Given the description of an element on the screen output the (x, y) to click on. 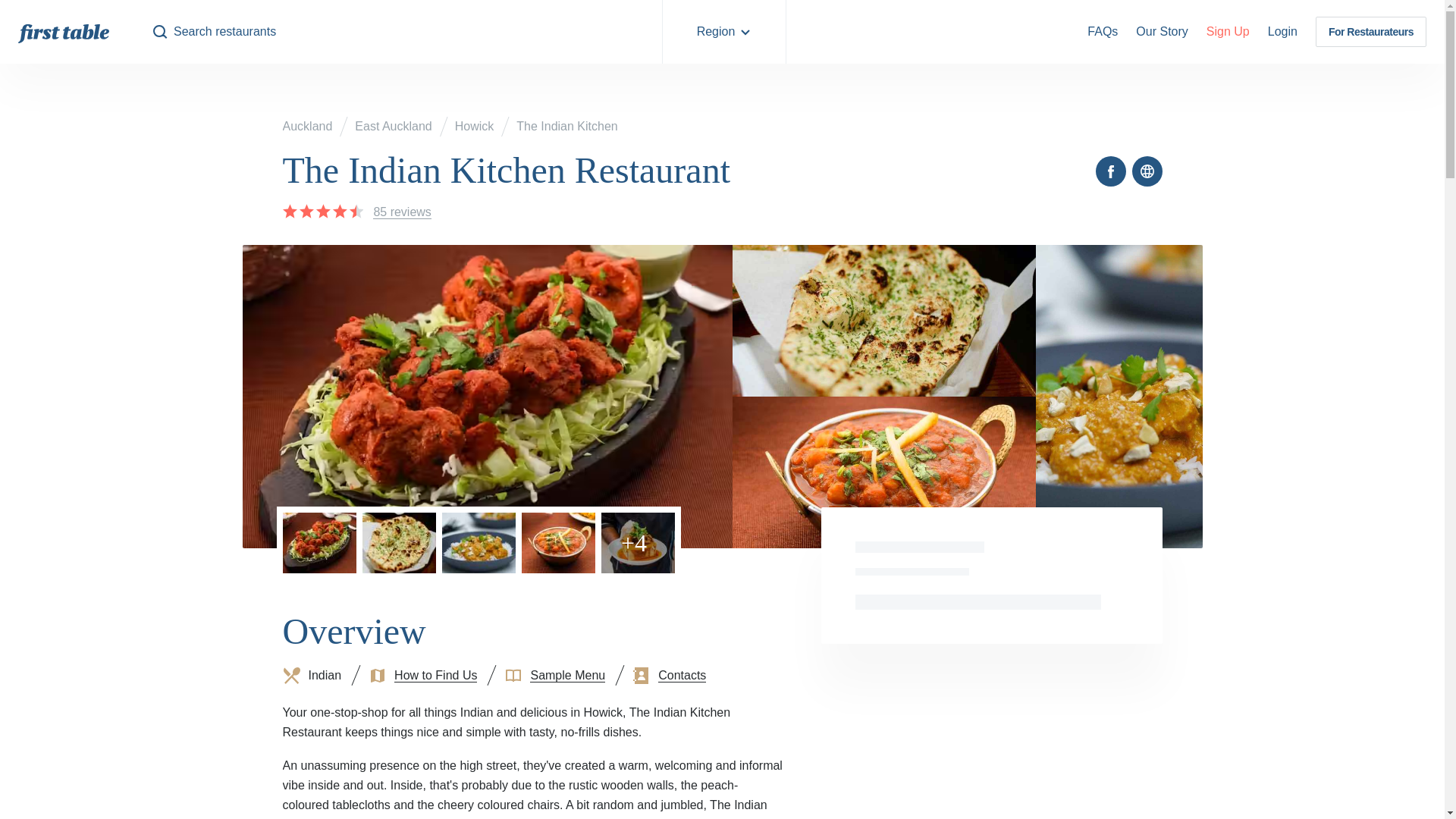
FAQs (1102, 31)
East Auckland (392, 125)
Auckland (306, 125)
Howick (474, 125)
For Restaurateurs (1371, 31)
The Indian Kitchen (566, 125)
Our Story (1161, 31)
